Given the description of an element on the screen output the (x, y) to click on. 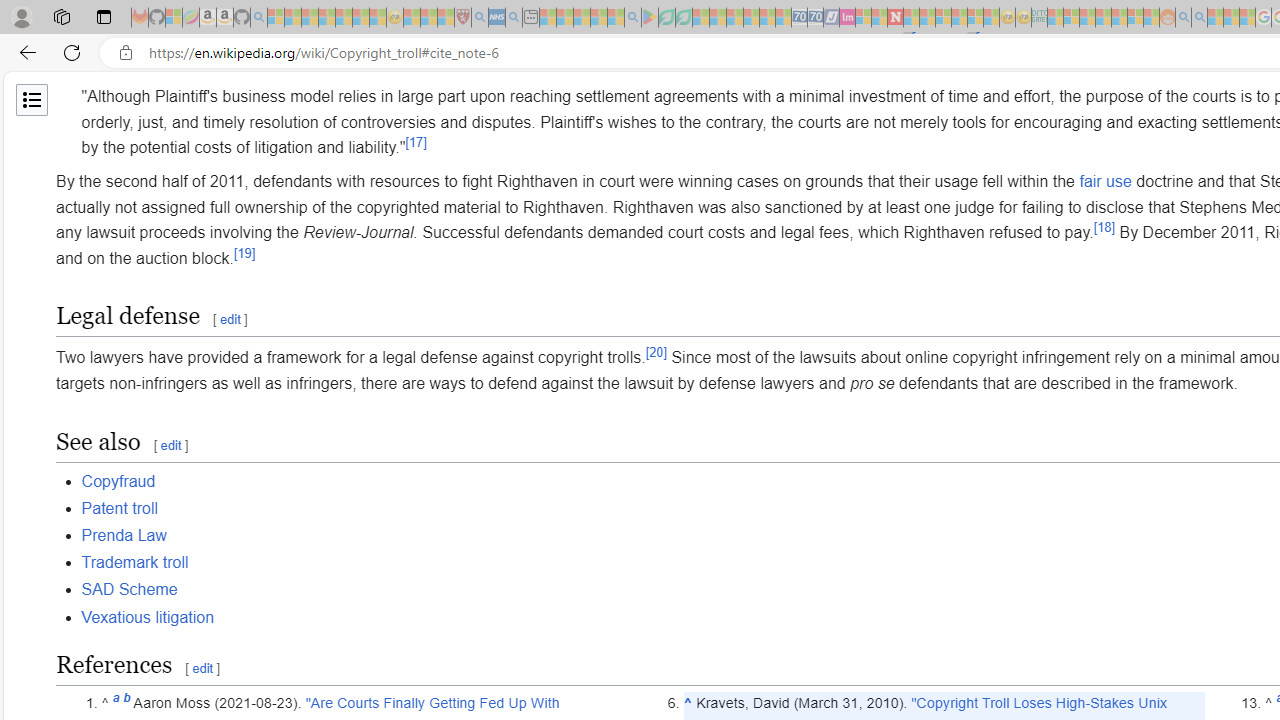
fair use (1105, 181)
Jump up to: a (116, 703)
Microsoft-Report a Concern to Bing - Sleeping (173, 17)
[17] (415, 143)
edit (202, 668)
Terms of Use Agreement - Sleeping (666, 17)
[18] (1104, 226)
Patent troll (119, 507)
